Given the description of an element on the screen output the (x, y) to click on. 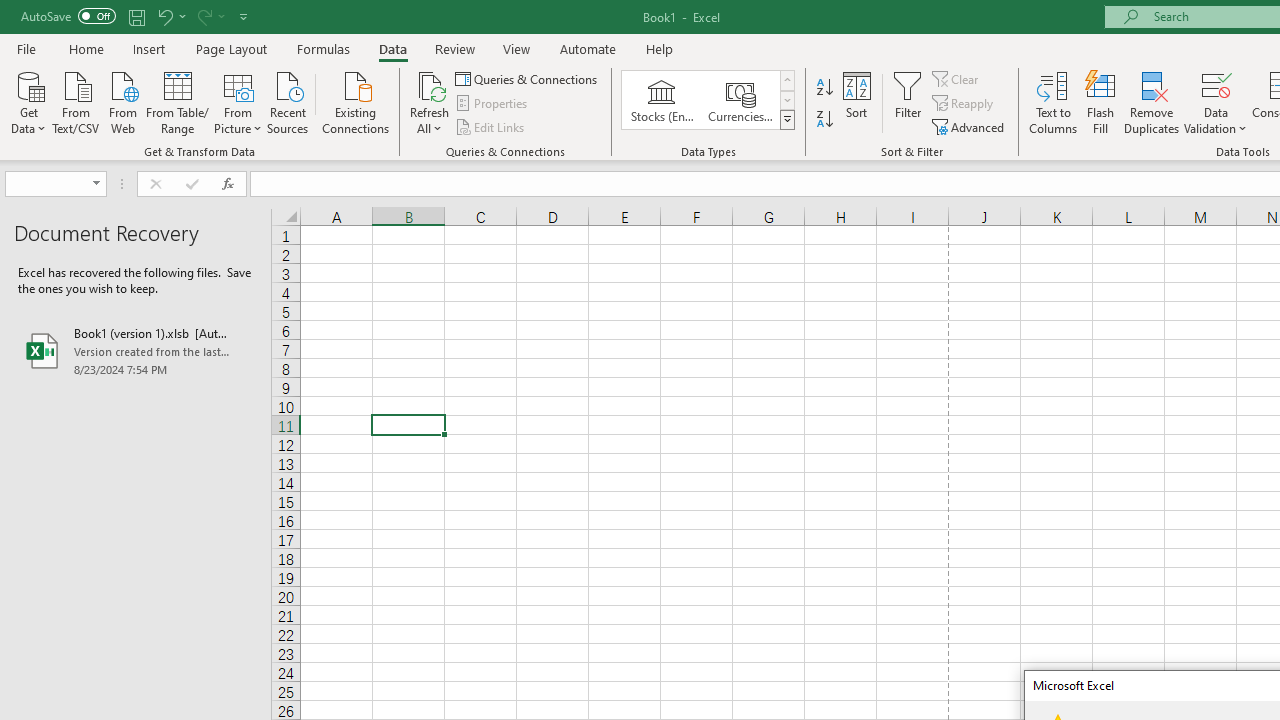
Text to Columns... (1053, 102)
AutoSave (68, 16)
AutomationID: ConvertToLinkedEntity (708, 99)
Filter (908, 102)
Automate (588, 48)
Class: NetUIImage (787, 119)
Row Down (786, 100)
Reapply (964, 103)
Get Data (28, 101)
Clear (957, 78)
